Given the description of an element on the screen output the (x, y) to click on. 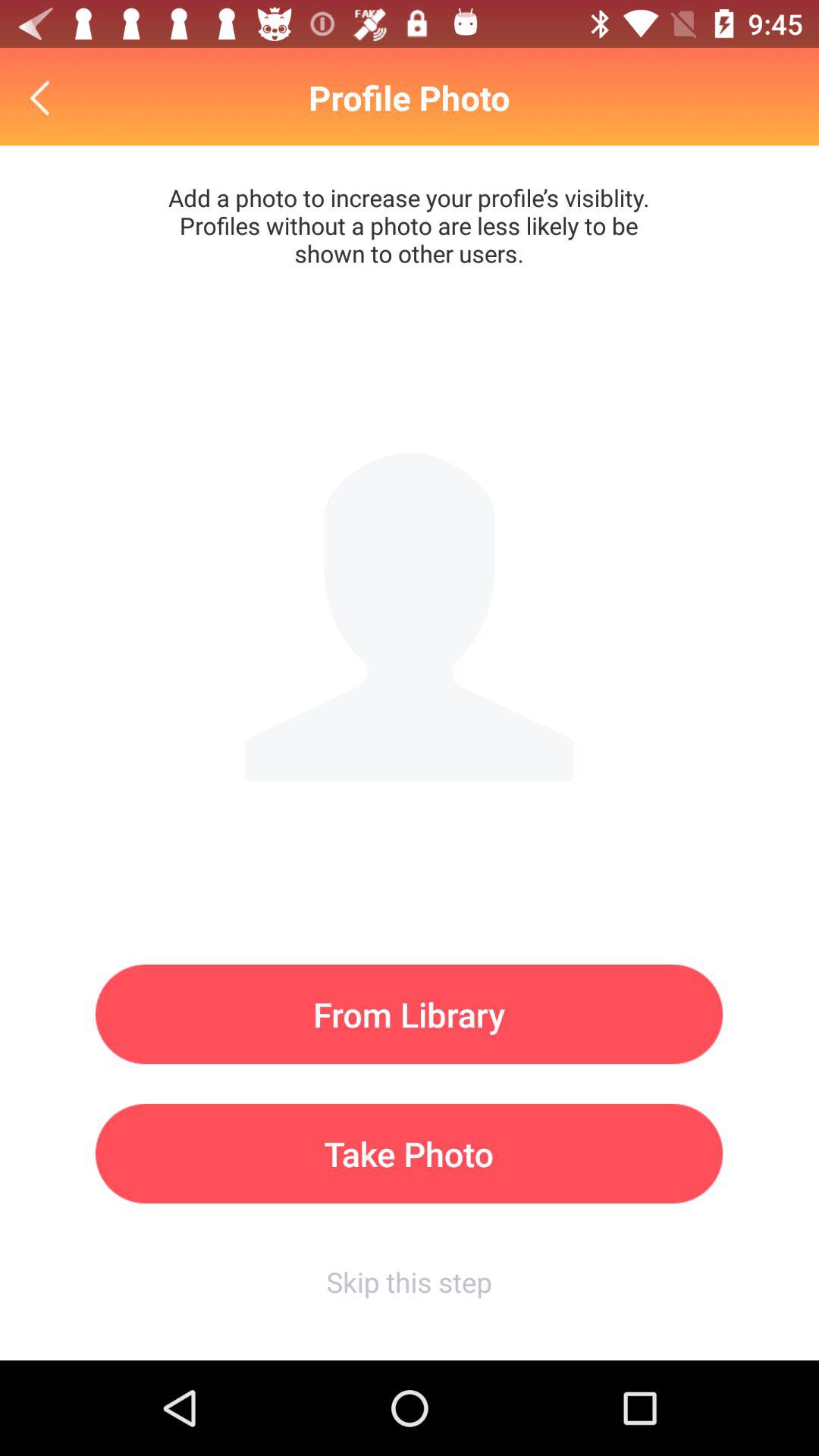
go back one page right click or pull down to show history (43, 97)
